Given the description of an element on the screen output the (x, y) to click on. 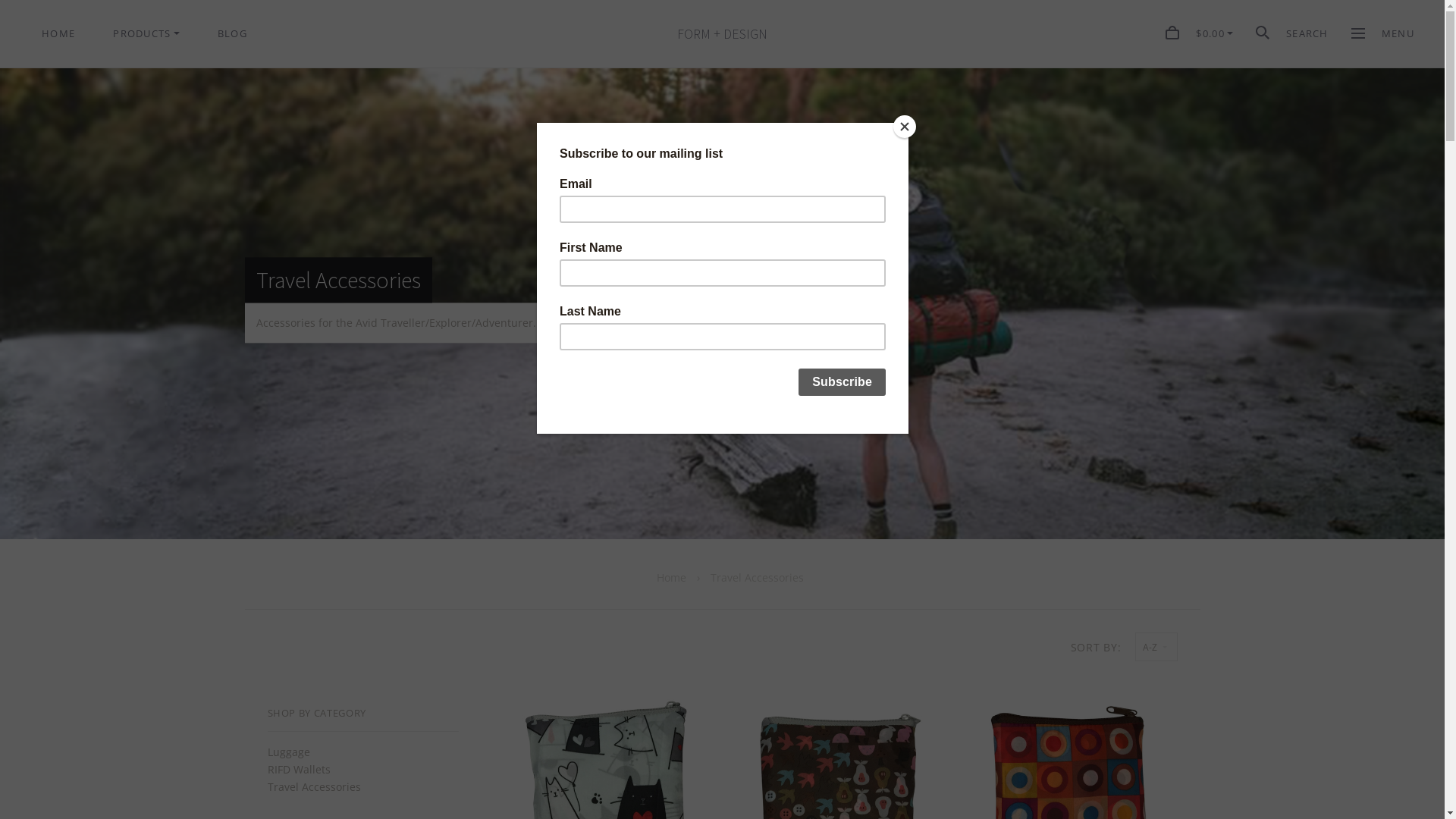
RIFD Wallets Element type: text (297, 769)
Home Element type: text (671, 577)
Travel Accessories Element type: text (313, 786)
FORM + DESIGN Element type: text (722, 34)
Travel Accessories Element type: text (756, 577)
$0.00 Element type: text (1199, 34)
Luggage Element type: text (287, 751)
PRODUCTS Element type: text (145, 33)
SEARCH Element type: text (1291, 34)
BLOG Element type: text (232, 33)
HOME Element type: text (58, 33)
MENU Element type: text (1382, 33)
